Given the description of an element on the screen output the (x, y) to click on. 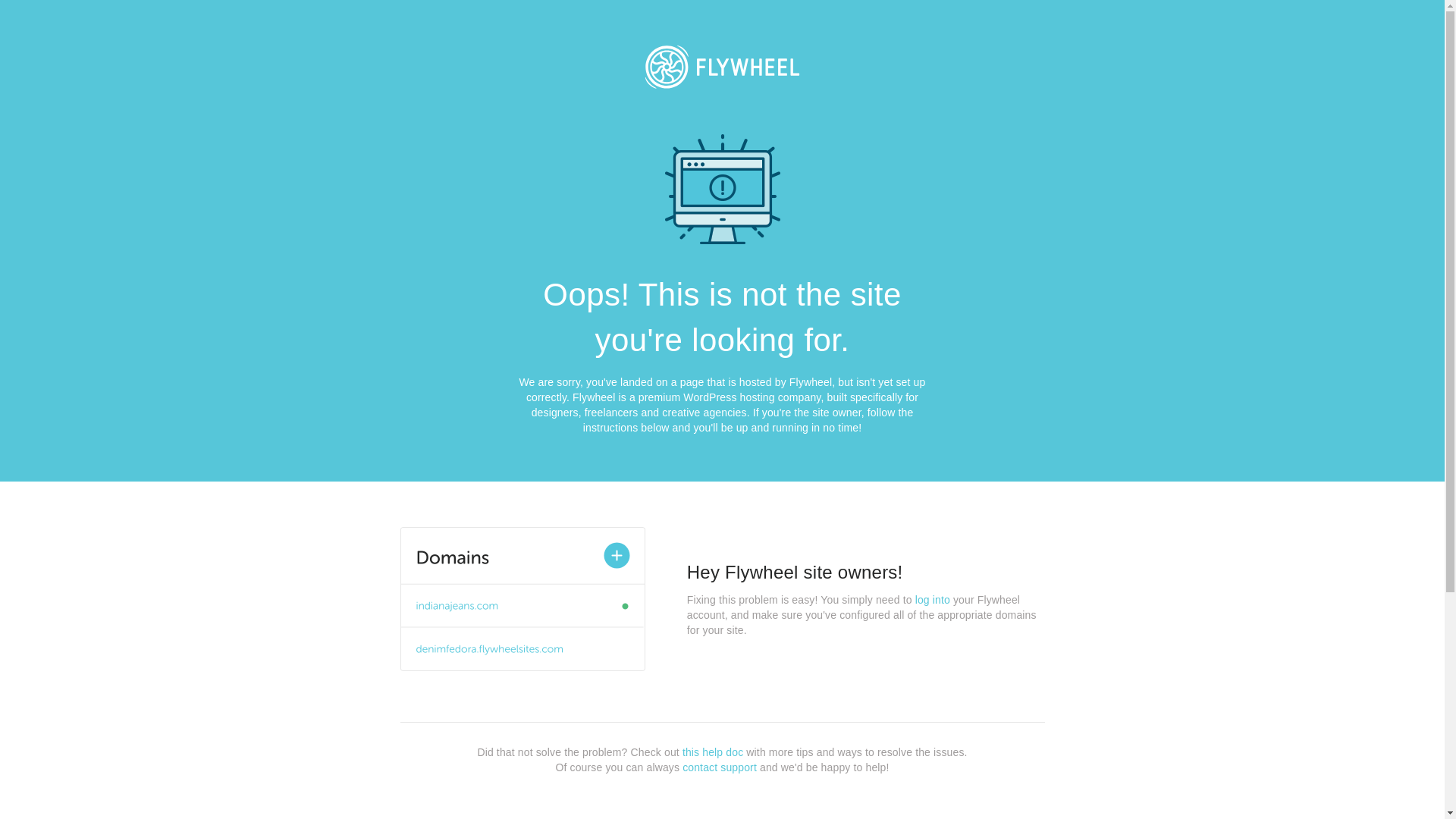
contact support (719, 767)
this help doc (712, 752)
log into (932, 599)
